Given the description of an element on the screen output the (x, y) to click on. 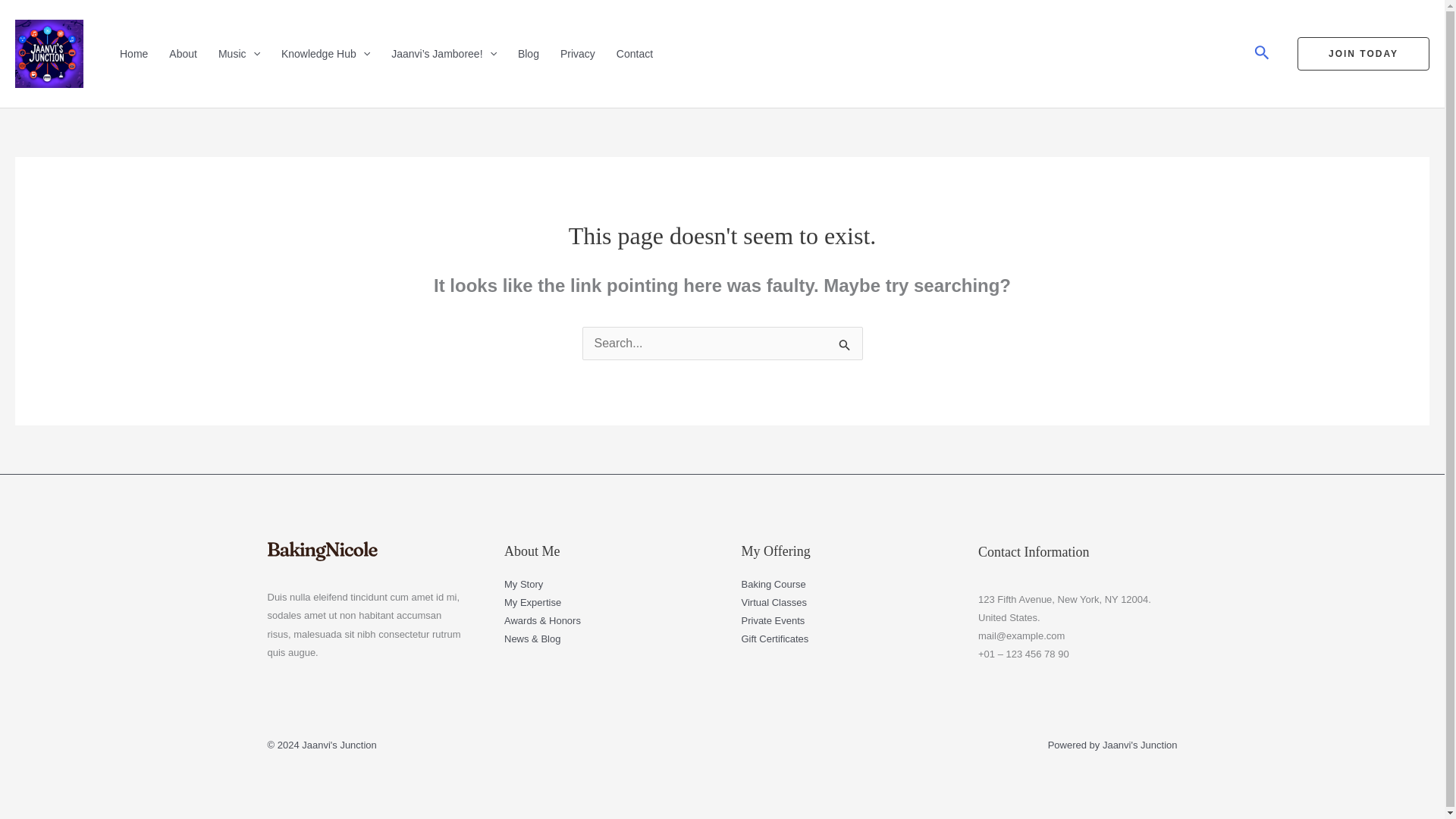
About (184, 53)
Search (844, 345)
Home (135, 53)
Search (844, 345)
Knowledge Hub (326, 53)
Music (240, 53)
